Given the description of an element on the screen output the (x, y) to click on. 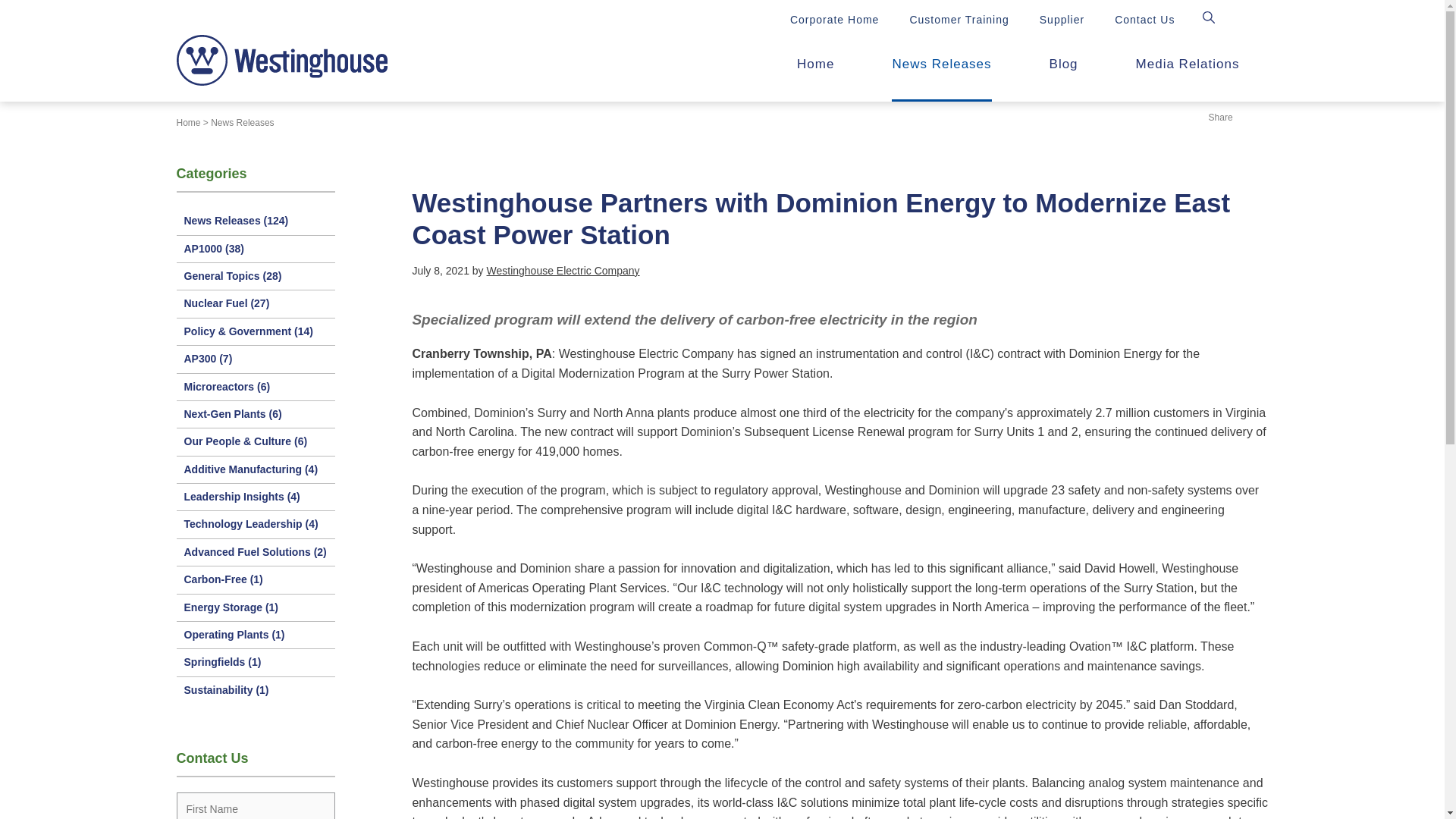
Customer Training (958, 19)
Westinghouse (281, 60)
Media Relations (1187, 68)
News Releases (242, 122)
Home (815, 68)
News Releases (941, 68)
Supplier (1061, 19)
Blog (1063, 68)
Home (188, 122)
Contact Us (1144, 19)
Corporate Home (834, 19)
Westinghouse Electric Company (563, 270)
